Given the description of an element on the screen output the (x, y) to click on. 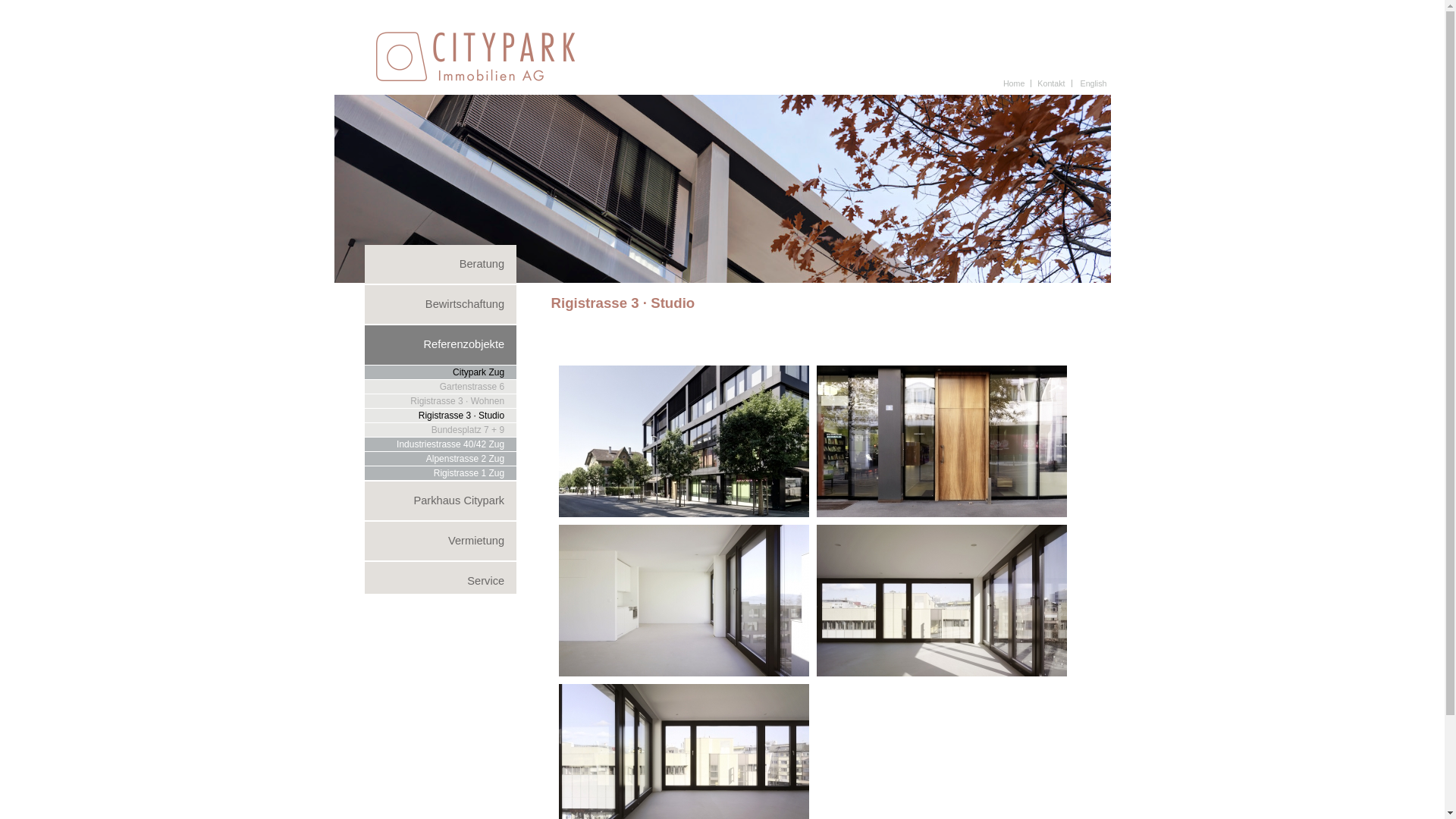
Bundesplatz 7 + 9 Element type: text (440, 429)
Home Element type: text (1013, 83)
Service Element type: text (440, 580)
Gartenstrasse 6 Element type: text (440, 386)
Parkhaus Citypark Element type: text (440, 500)
Rigistrasse 1 Zug Element type: text (440, 473)
Rigistrasse 3 Studio-3 Element type: hover (683, 672)
Vermietung Element type: text (440, 540)
Industriestrasse 40/42 Zug Element type: text (440, 444)
Rigistrasse 3 Studio-6 Element type: hover (683, 513)
English Element type: text (1093, 83)
Rigistrasse 3 Studio-4 Element type: hover (940, 672)
Rigistrasse 3-11 Element type: hover (940, 513)
Bewirtschaftung Element type: text (440, 304)
Alpenstrasse 2 Zug Element type: text (440, 458)
Kontakt Element type: text (1050, 83)
Beratung Element type: text (440, 263)
Referenzobjekte Element type: text (440, 344)
Citypark Zug Element type: text (440, 372)
